Given the description of an element on the screen output the (x, y) to click on. 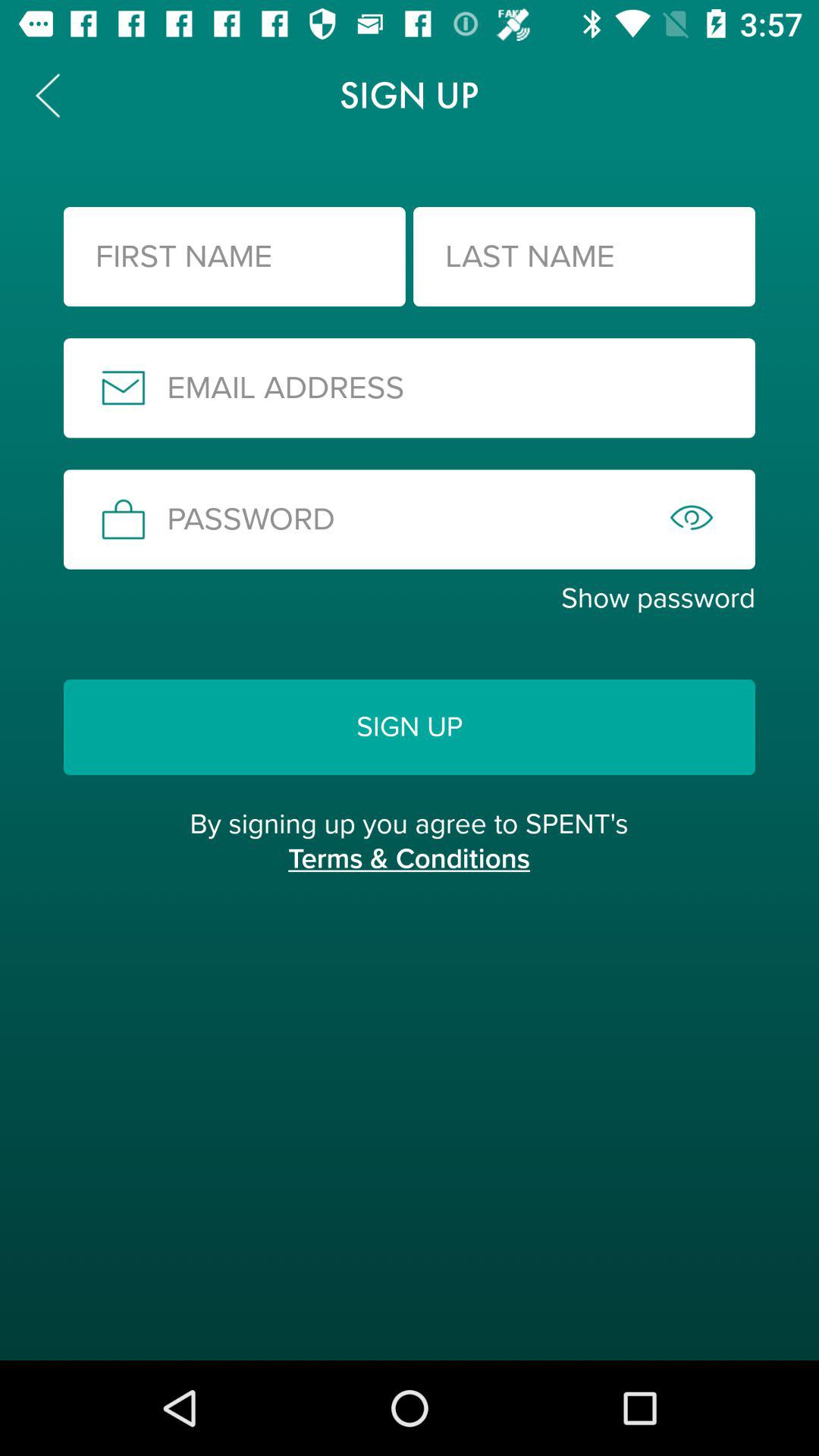
first name (234, 256)
